Given the description of an element on the screen output the (x, y) to click on. 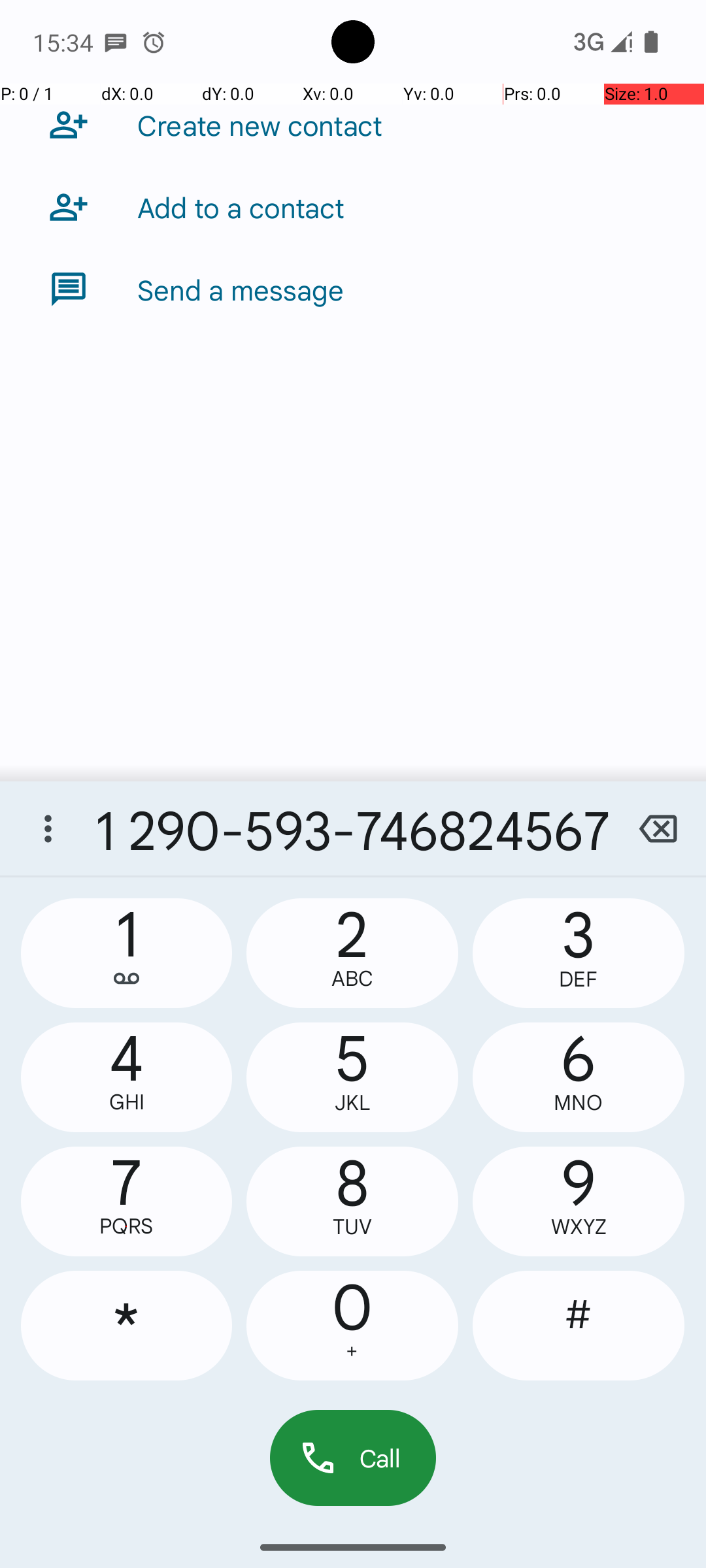
+1 290-593-746824567 Element type: android.widget.EditText (352, 828)
